Given the description of an element on the screen output the (x, y) to click on. 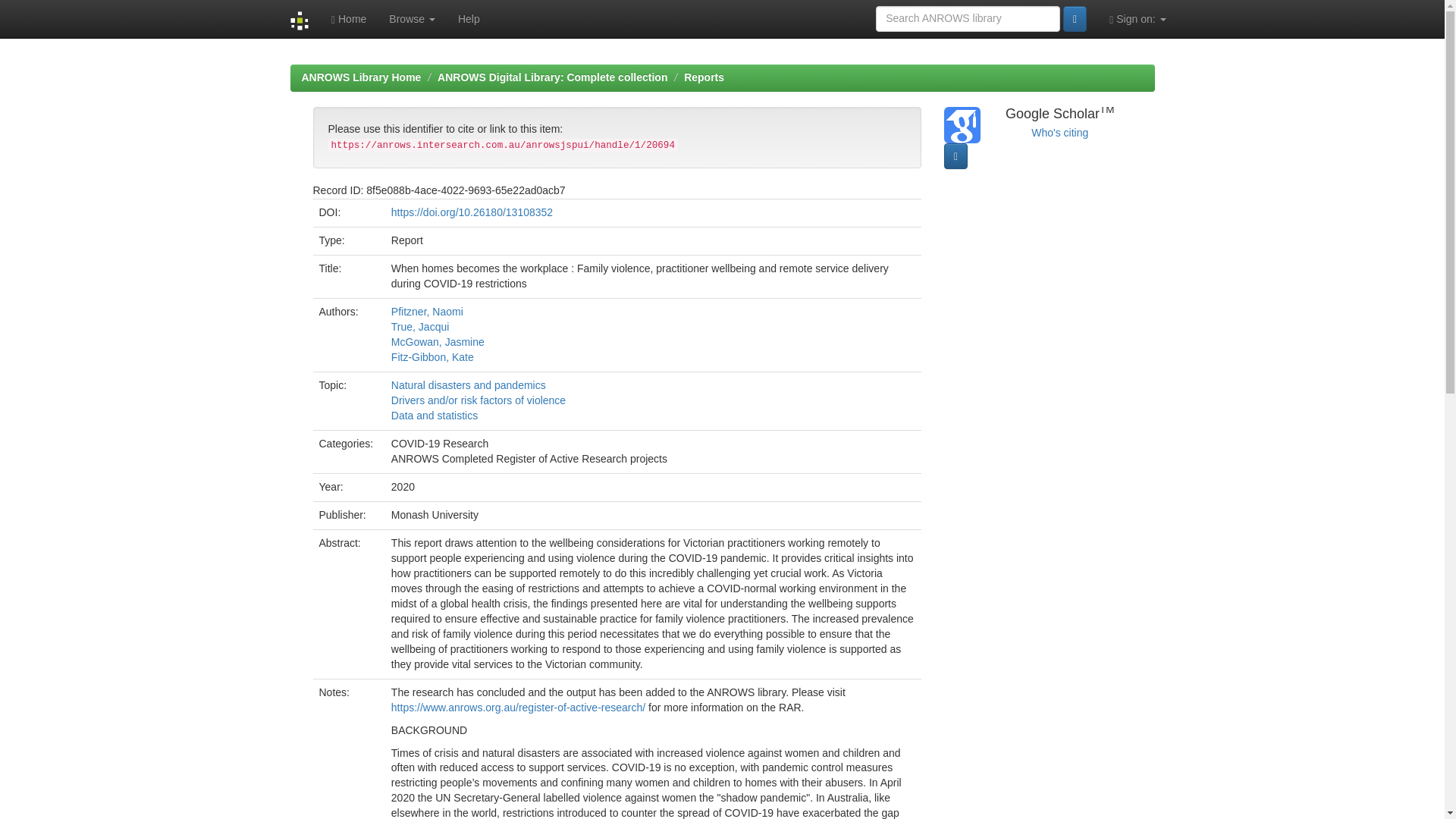
Browse (411, 18)
ANROWS Library Home (361, 77)
Who's citing (1058, 132)
Home (348, 18)
Google Scholar (1058, 132)
Natural disasters and pandemics (468, 385)
ANROWS Digital Library: Complete collection (552, 77)
statistics link (955, 155)
Reports (703, 77)
True, Jacqui (420, 326)
